Given the description of an element on the screen output the (x, y) to click on. 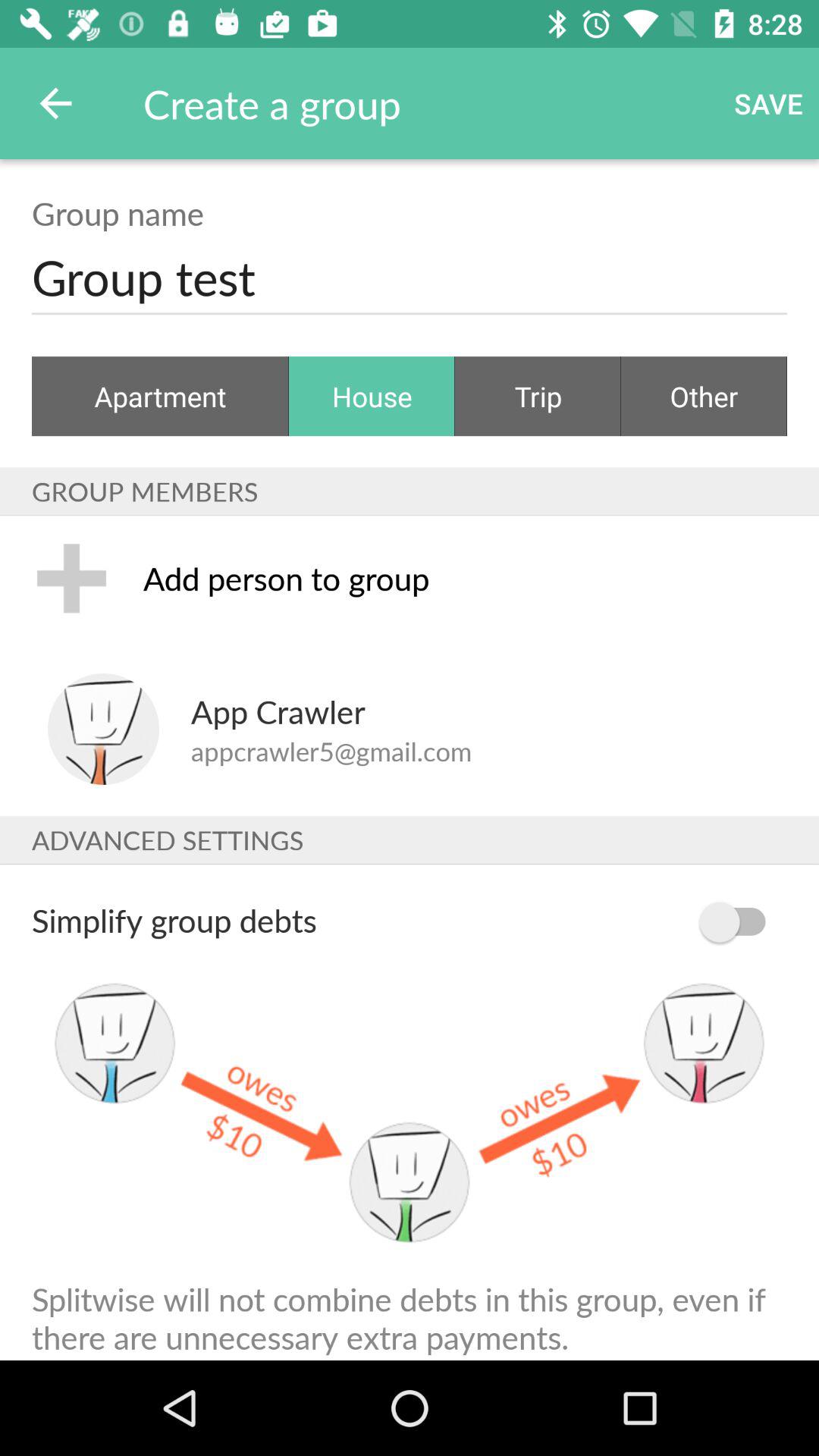
select house item (371, 396)
